Given the description of an element on the screen output the (x, y) to click on. 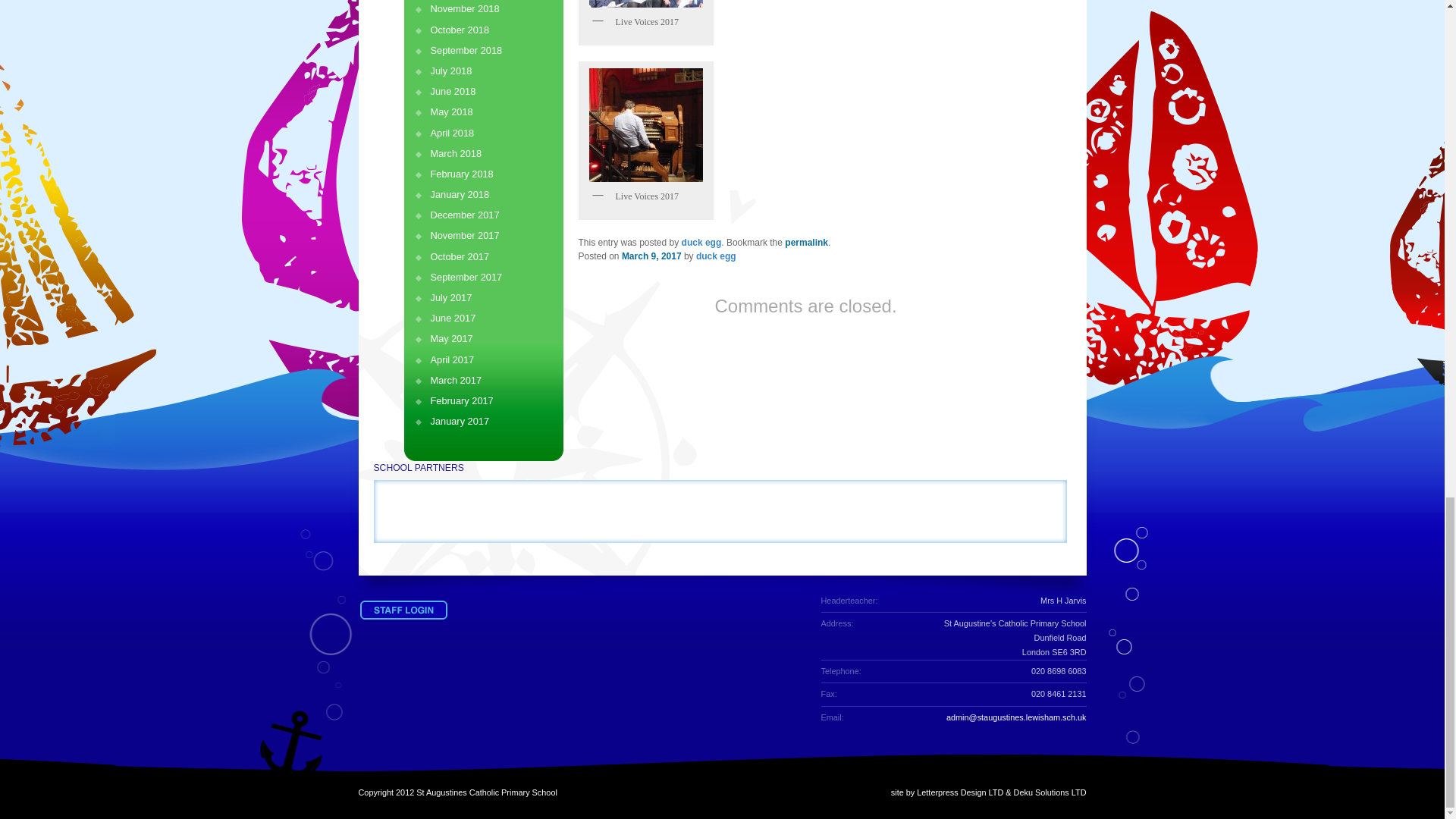
4:34 pm (651, 255)
View all posts by duck egg (715, 255)
Permalink to Live Voices 2017 perform on Broadway ! (806, 242)
